Given the description of an element on the screen output the (x, y) to click on. 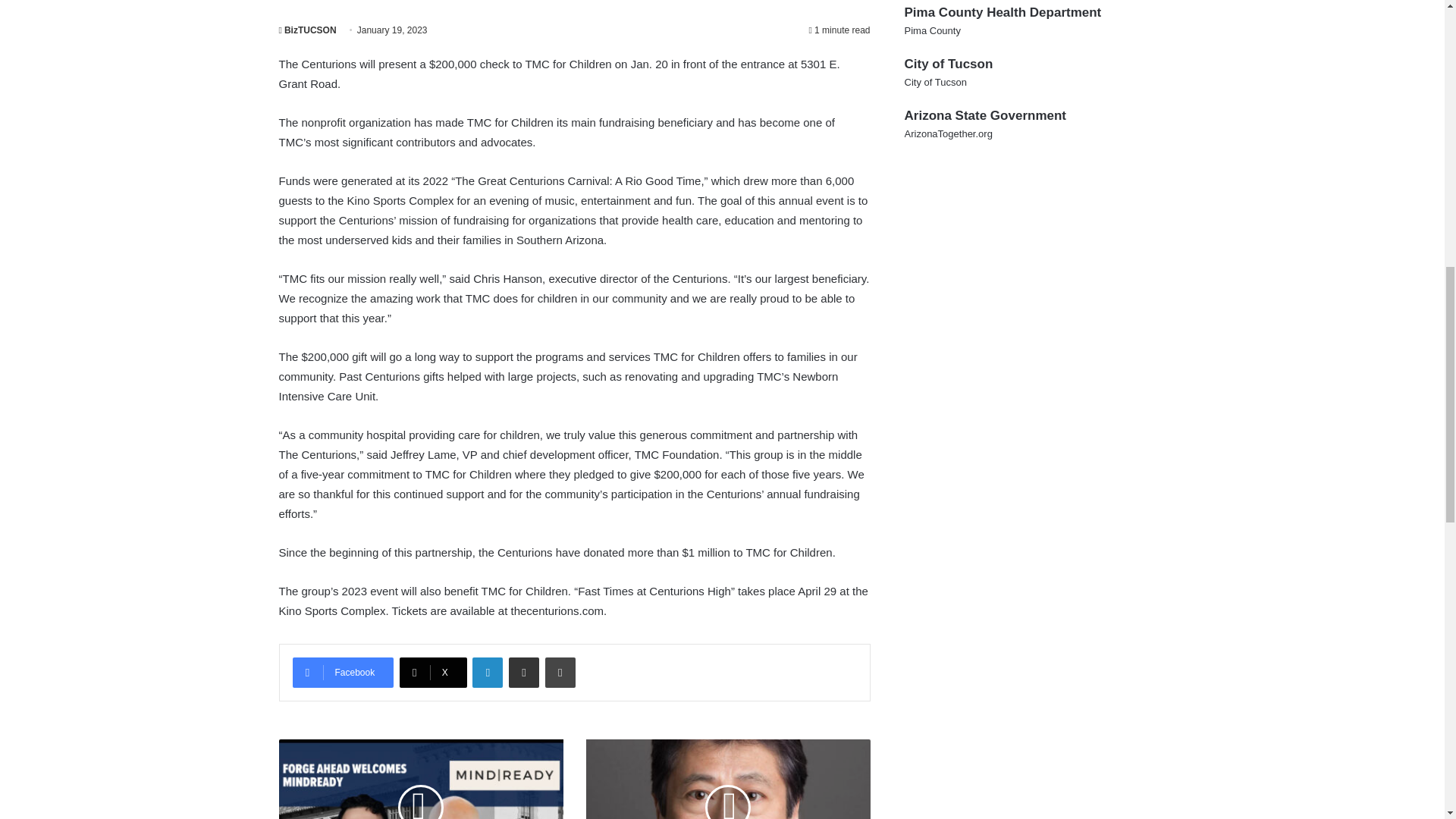
X (432, 672)
Share via Email (523, 672)
Print (559, 672)
BizTUCSON (307, 30)
LinkedIn (486, 672)
Facebook (343, 672)
